Given the description of an element on the screen output the (x, y) to click on. 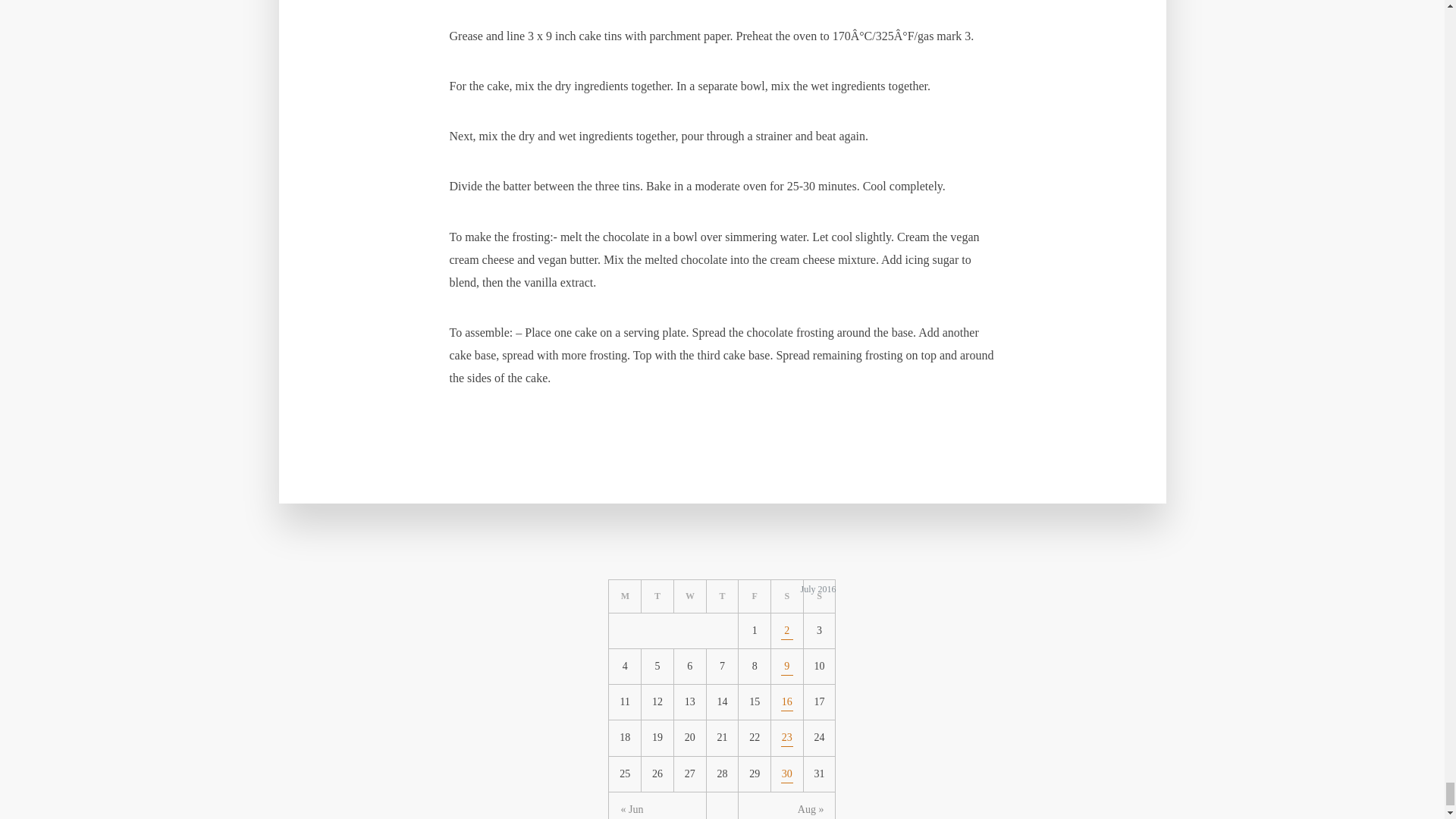
Sunday (819, 596)
Wednesday (690, 596)
Thursday (722, 596)
Monday (625, 596)
Tuesday (658, 596)
Saturday (787, 596)
Friday (754, 596)
